Given the description of an element on the screen output the (x, y) to click on. 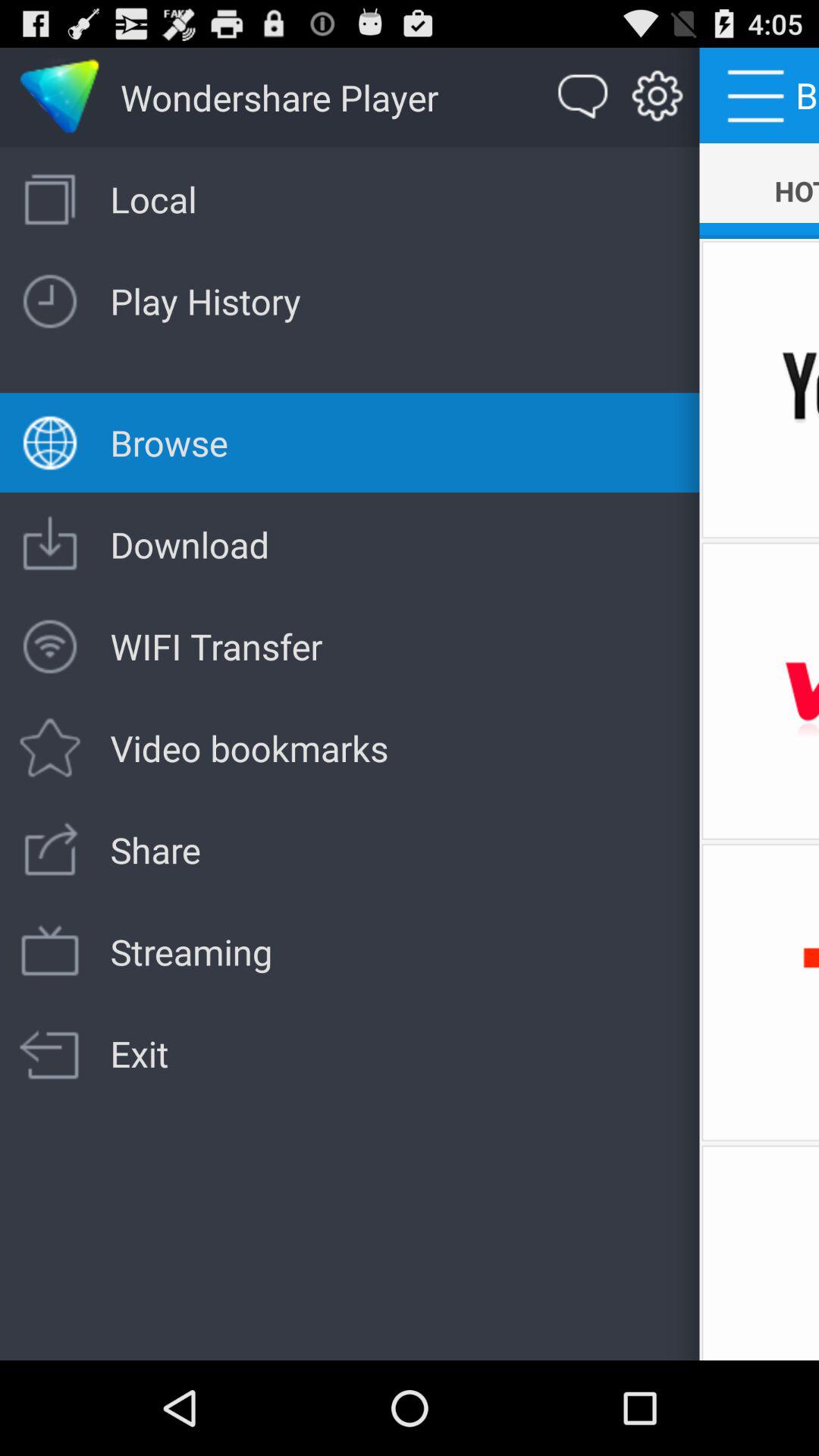
click the icon left to settings icon (583, 97)
click on the menu  next to setting icon (759, 95)
click on the icon beside local (50, 200)
click on the button below play history (50, 951)
click on the image at the left top corner of the page (59, 98)
